Given the description of an element on the screen output the (x, y) to click on. 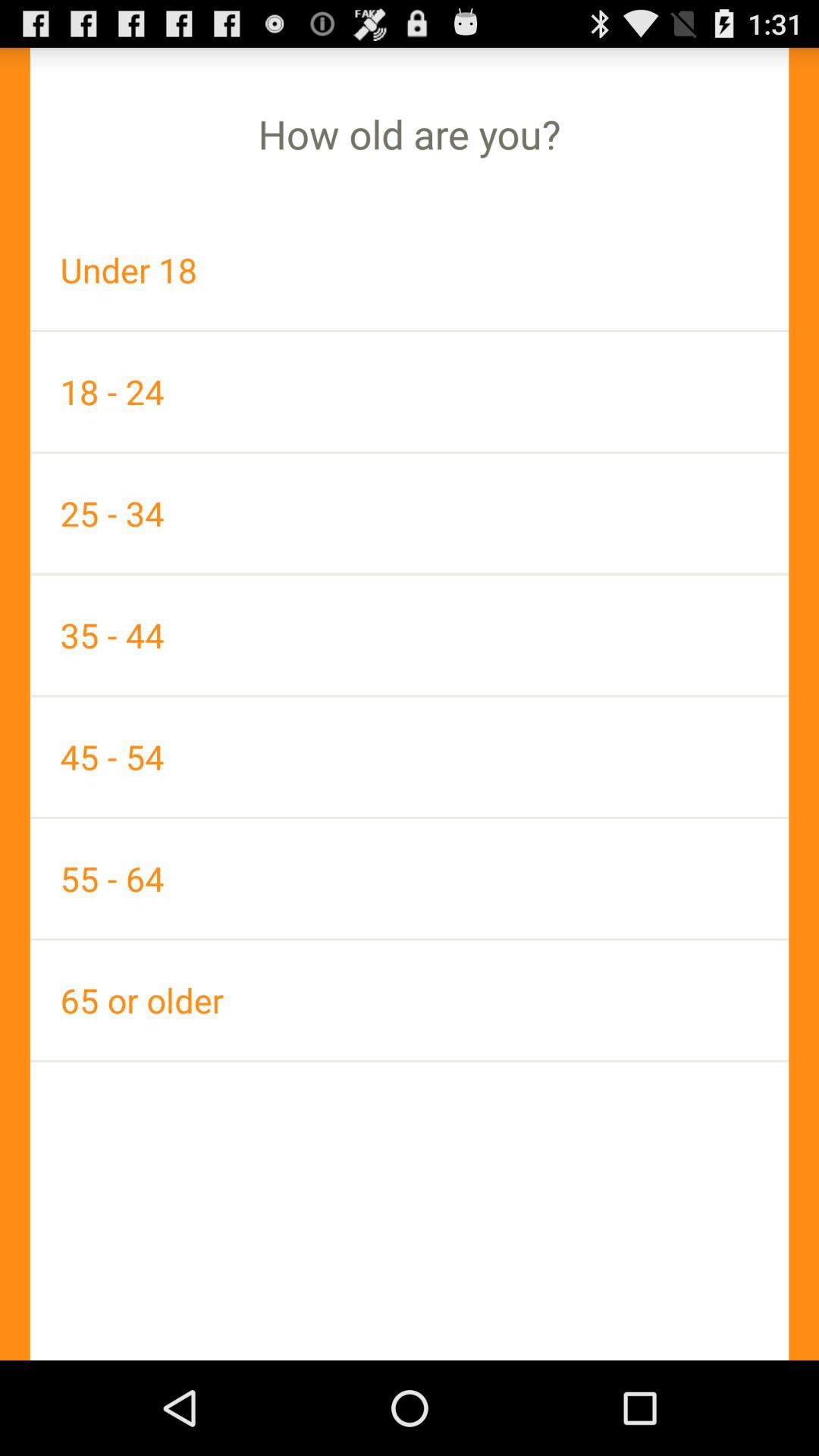
turn off the 65 or older (409, 1000)
